Given the description of an element on the screen output the (x, y) to click on. 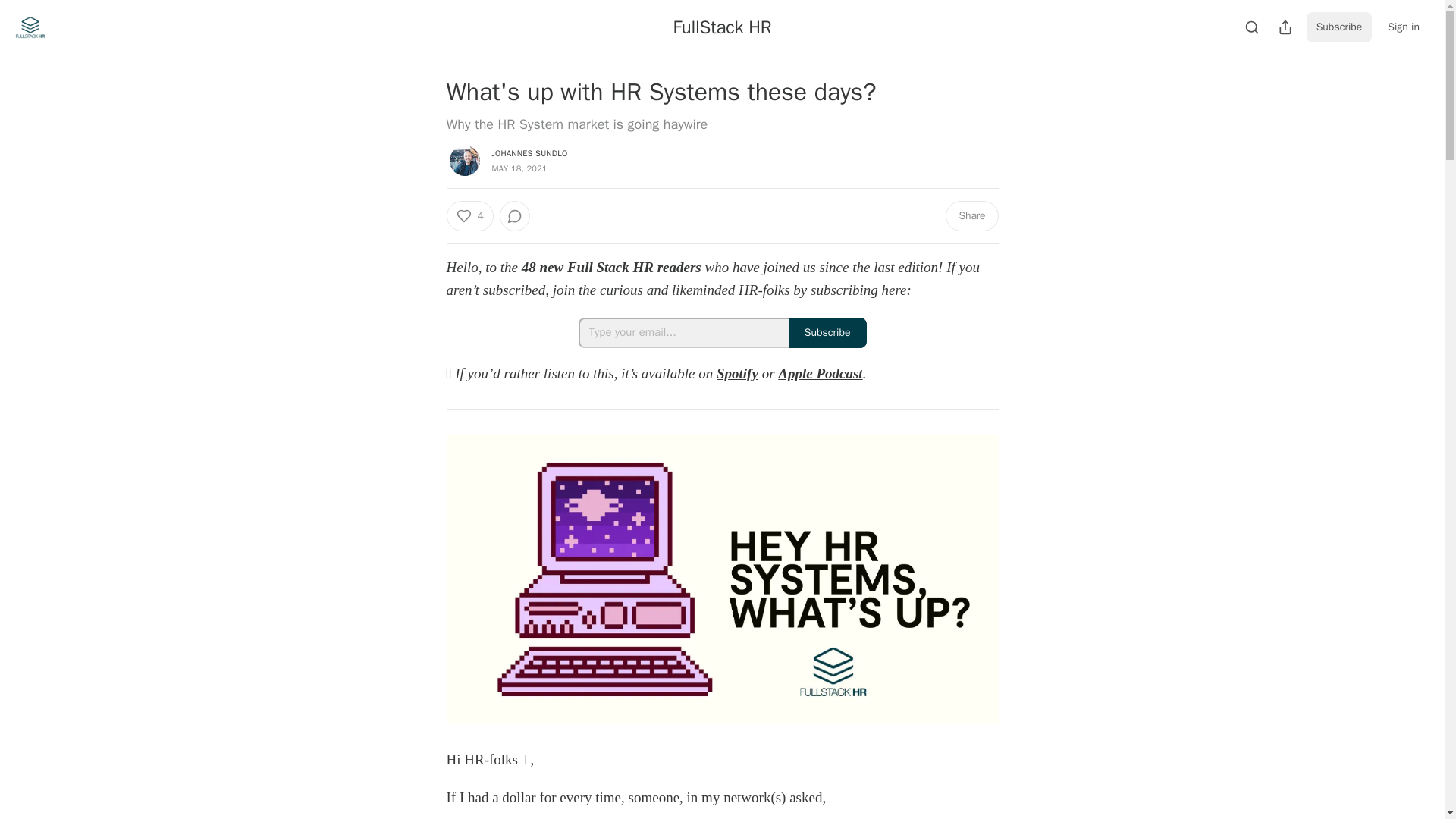
Sign in (1403, 27)
FullStack HR (721, 26)
Subscribe (1339, 27)
Share (970, 215)
Apple Podcast (819, 373)
4 (469, 215)
JOHANNES SUNDLO (529, 153)
Subscribe (827, 332)
Spotify (737, 373)
